Given the description of an element on the screen output the (x, y) to click on. 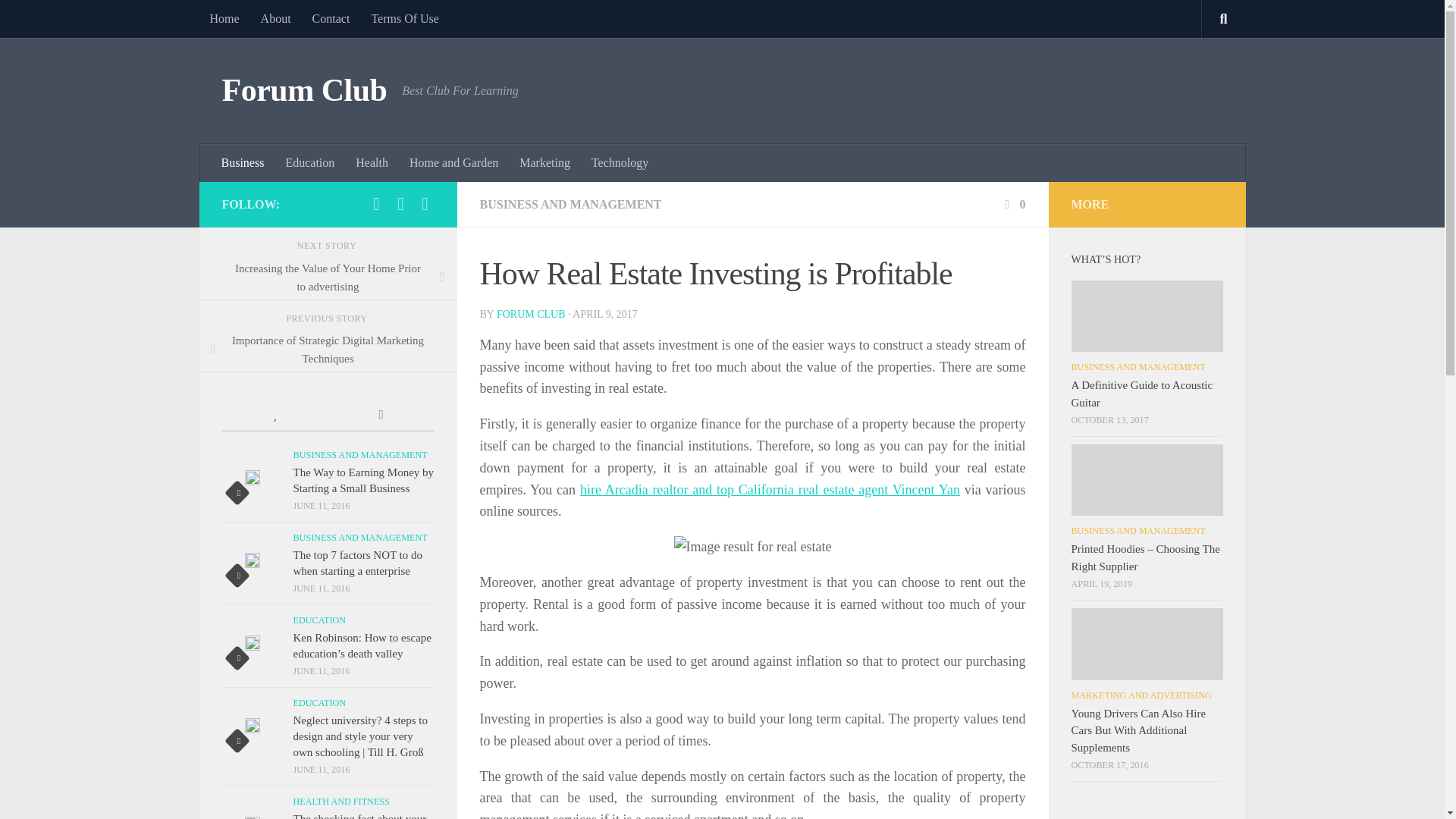
Skip to content (59, 20)
Health (371, 162)
About (275, 18)
Marketing (544, 162)
Follow us on Twitter (375, 203)
Education (310, 162)
0 (1013, 204)
Home (223, 18)
BUSINESS AND MANAGEMENT (570, 204)
